Given the description of an element on the screen output the (x, y) to click on. 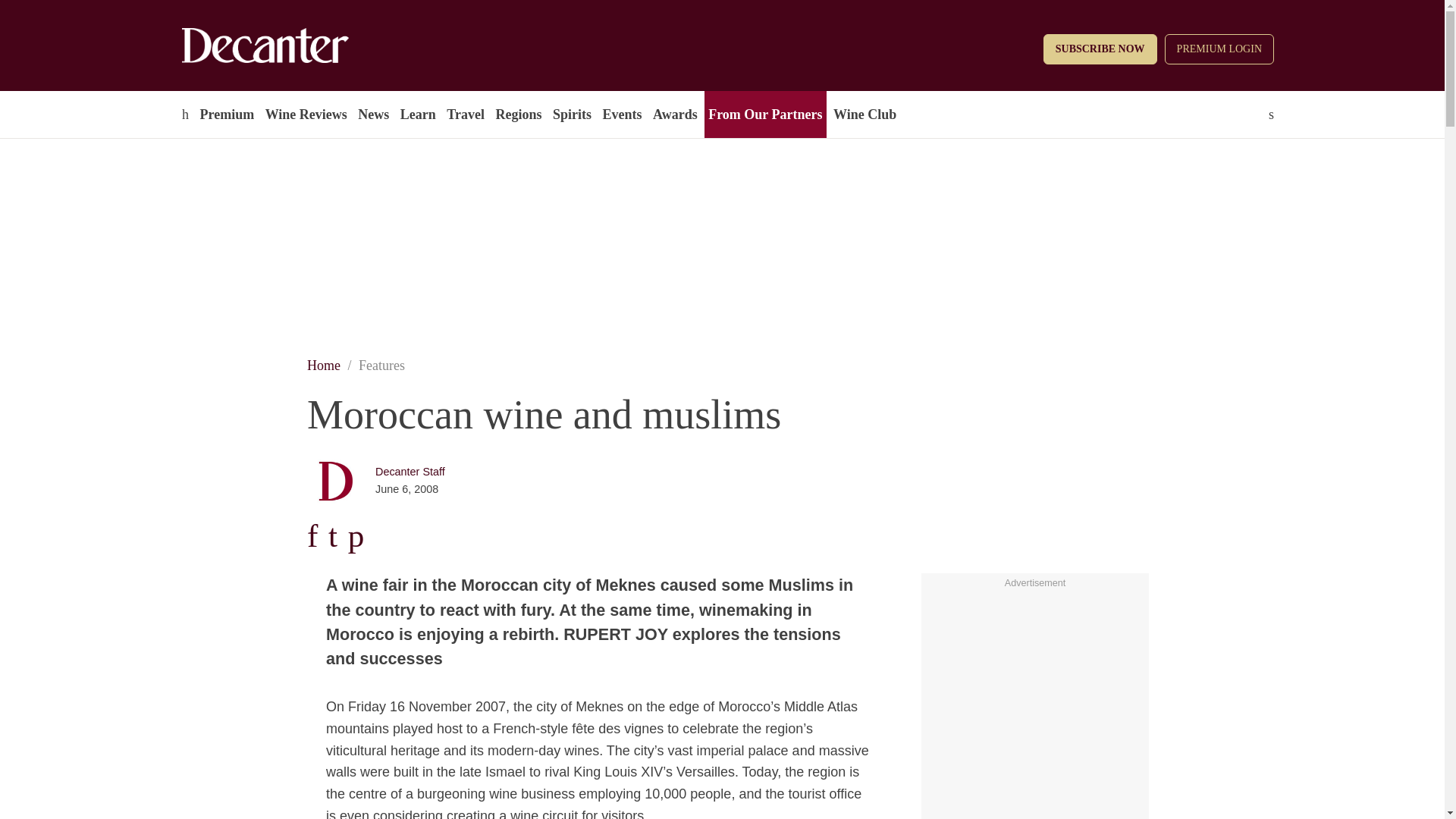
Travel (464, 114)
Learn (417, 114)
Premium (226, 114)
Awards (675, 114)
Decanter (297, 45)
Wine Reviews (306, 114)
